Given the description of an element on the screen output the (x, y) to click on. 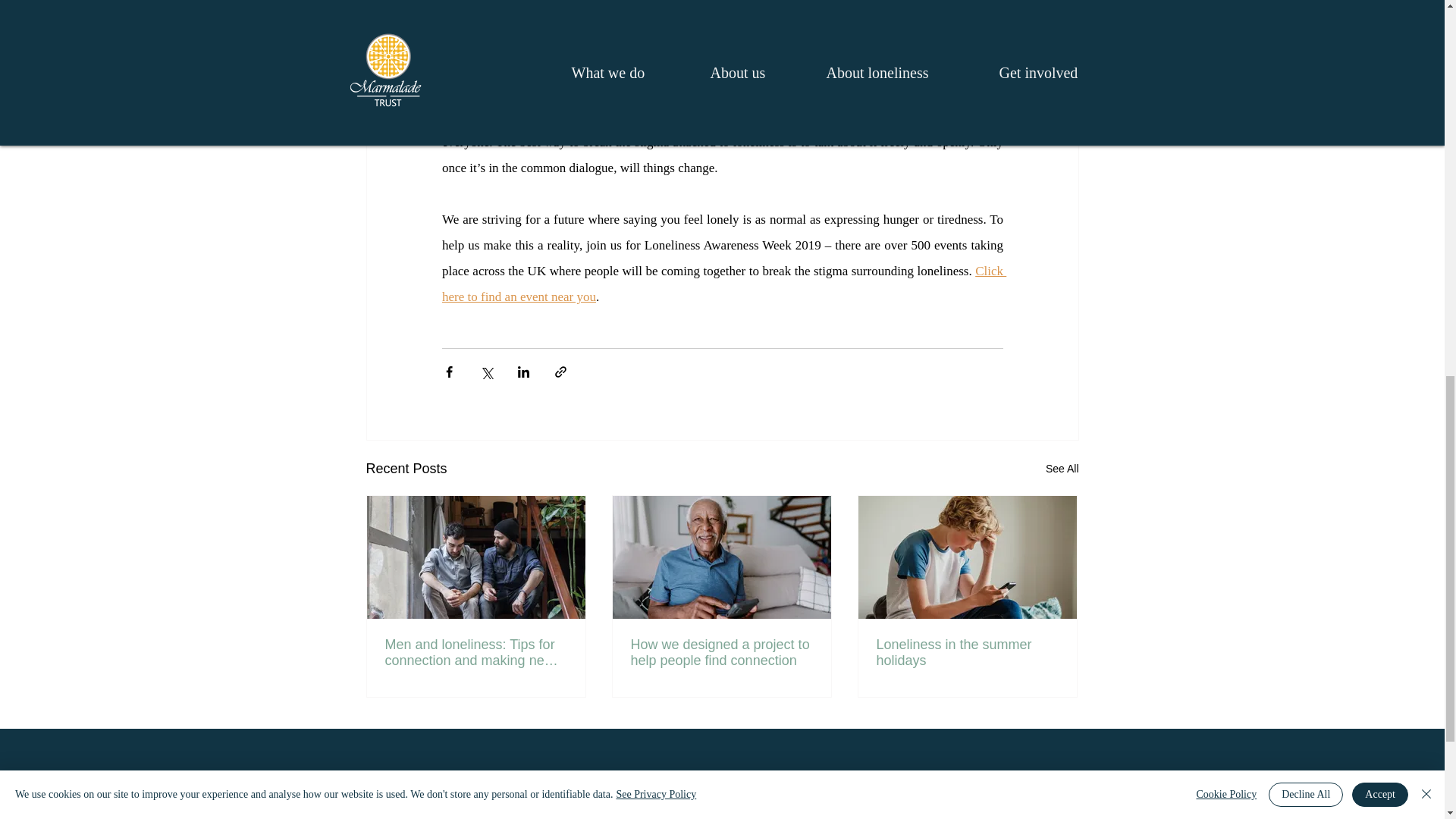
Newsletter sign up (426, 799)
Click here to find an event near you (723, 283)
Loneliness in the summer holidays (967, 653)
How we designed a project to help people find connection (721, 653)
See All (1061, 468)
